Given the description of an element on the screen output the (x, y) to click on. 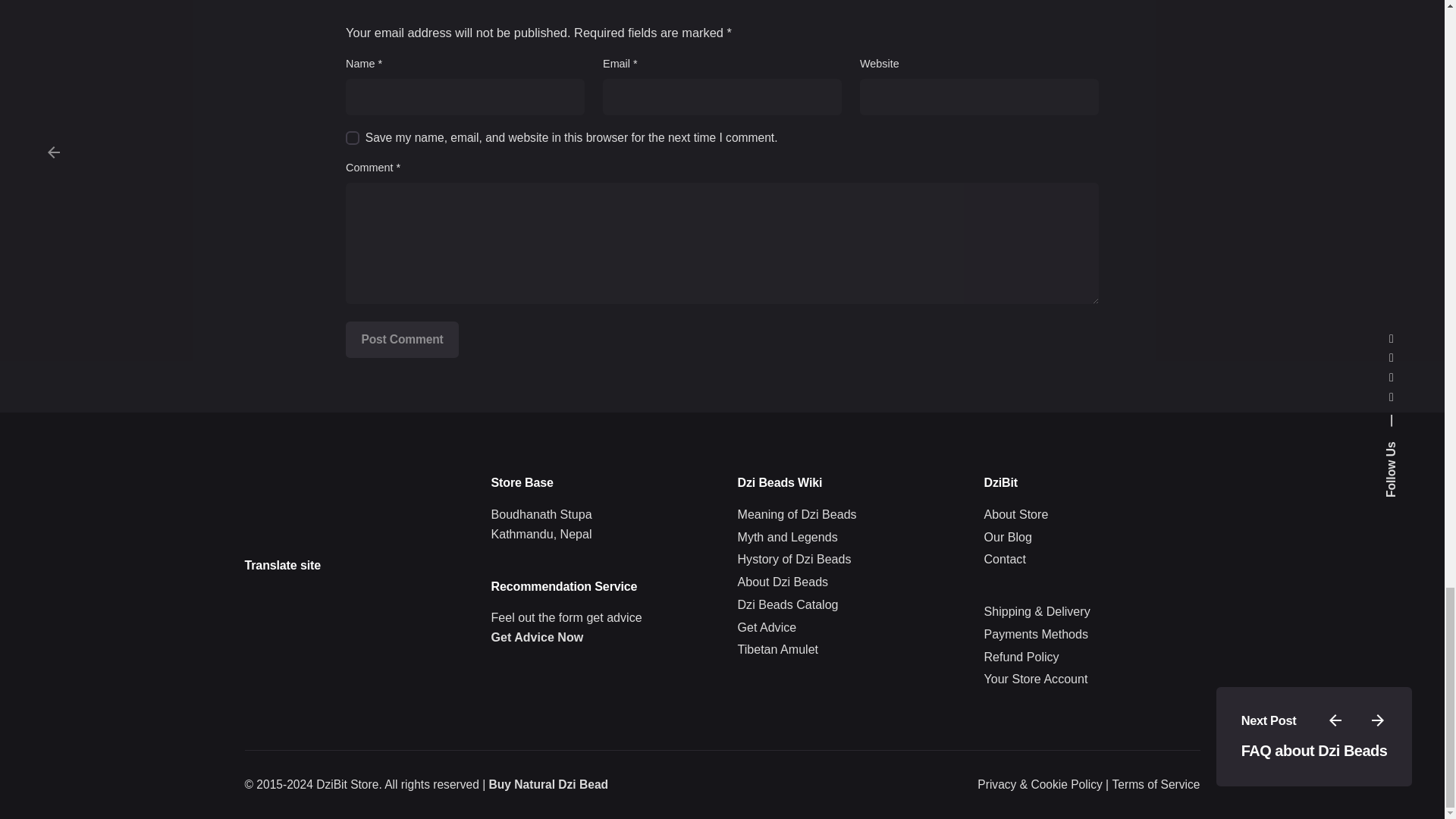
yes (352, 137)
Post Comment (402, 339)
